Given the description of an element on the screen output the (x, y) to click on. 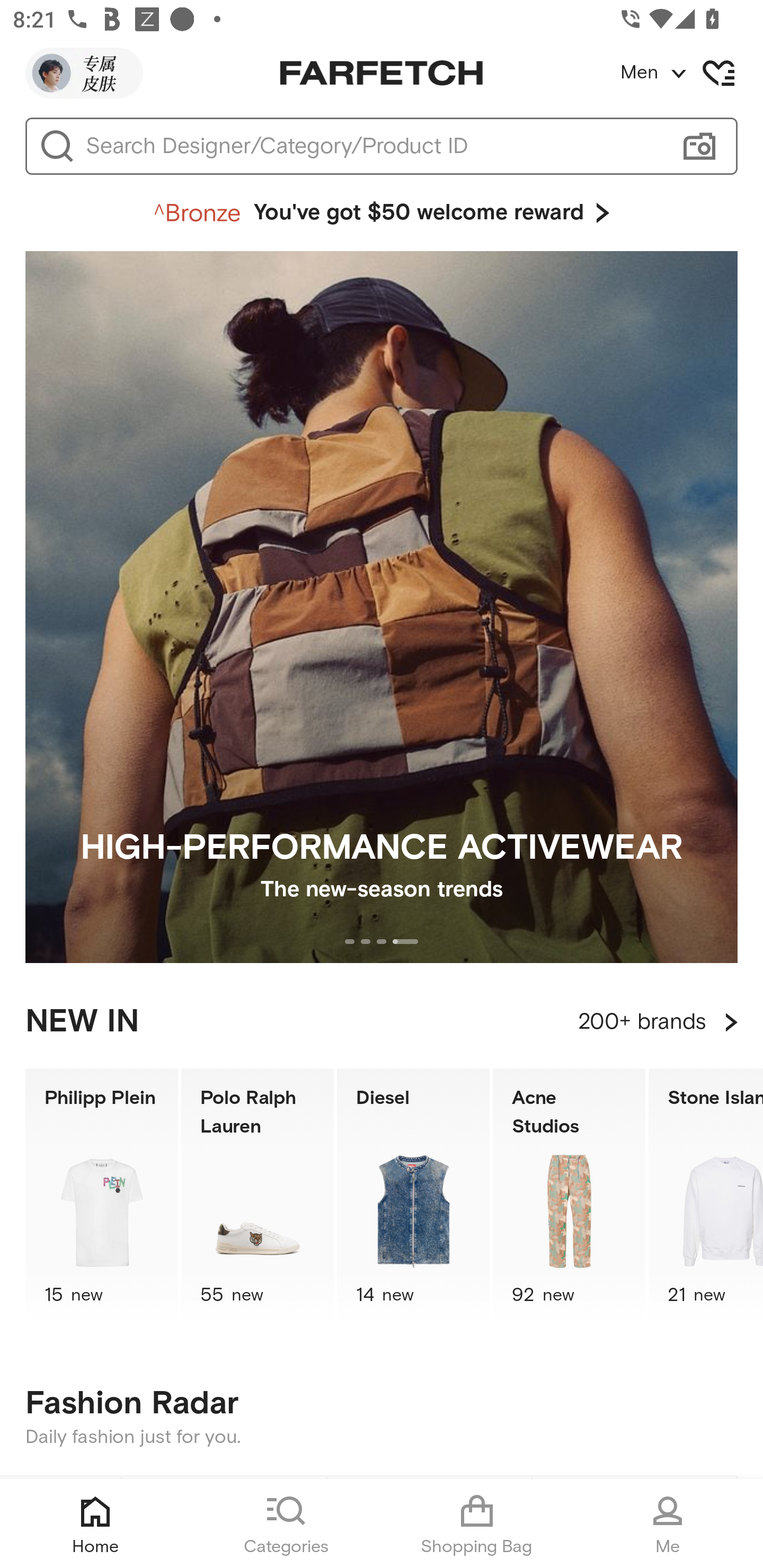
Men (691, 72)
Search Designer/Category/Product ID (373, 146)
You've got $50 welcome reward (381, 213)
NEW IN 200+ brands (381, 1021)
Philipp Plein 15  new (101, 1196)
Polo Ralph Lauren 55  new (257, 1196)
Diesel 14  new (413, 1196)
Acne Studios 92  new (568, 1196)
Stone Island 21  new (705, 1196)
Categories (285, 1523)
Shopping Bag (476, 1523)
Me (667, 1523)
